Given the description of an element on the screen output the (x, y) to click on. 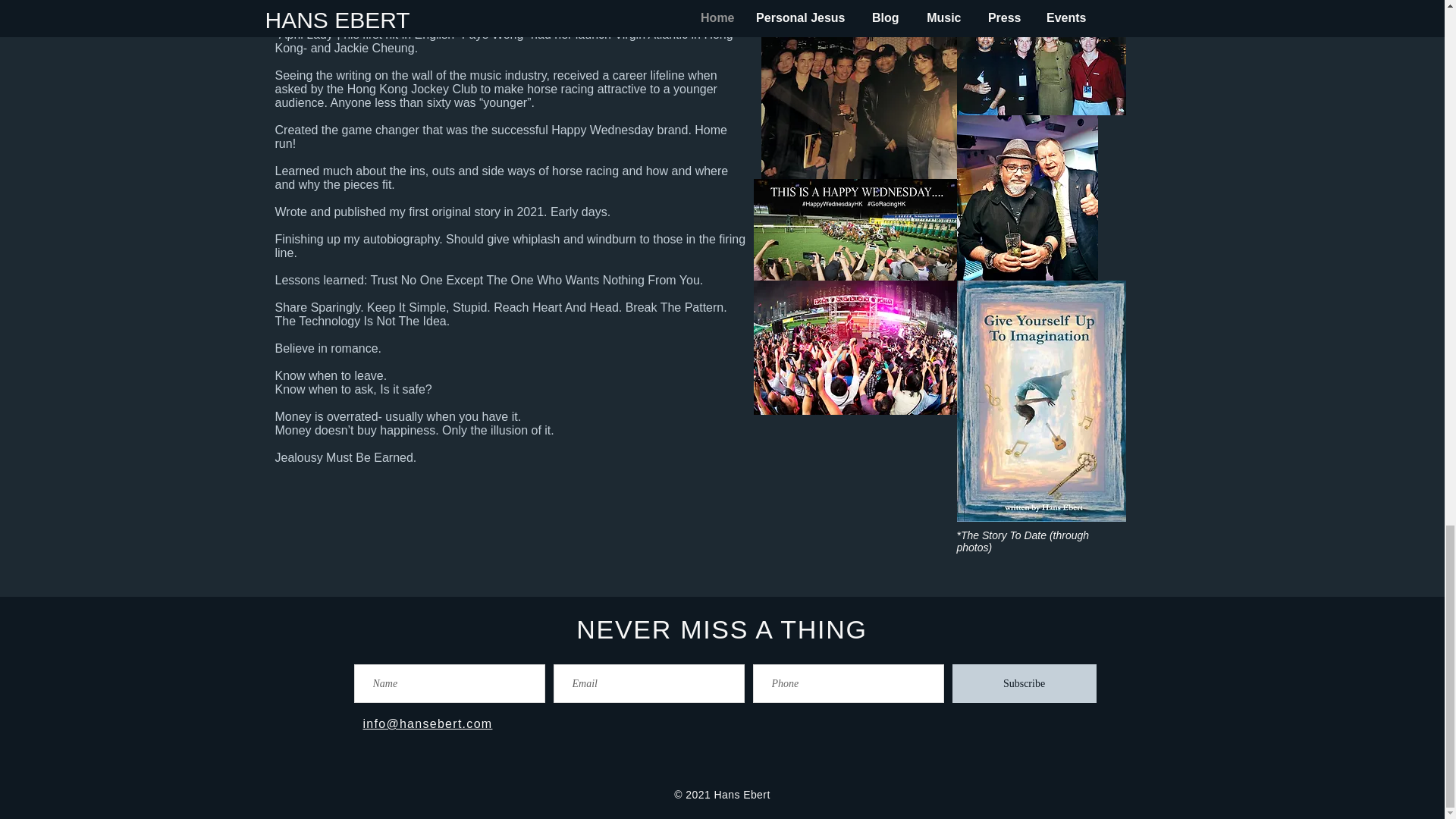
Subscribe (1024, 683)
